Given the description of an element on the screen output the (x, y) to click on. 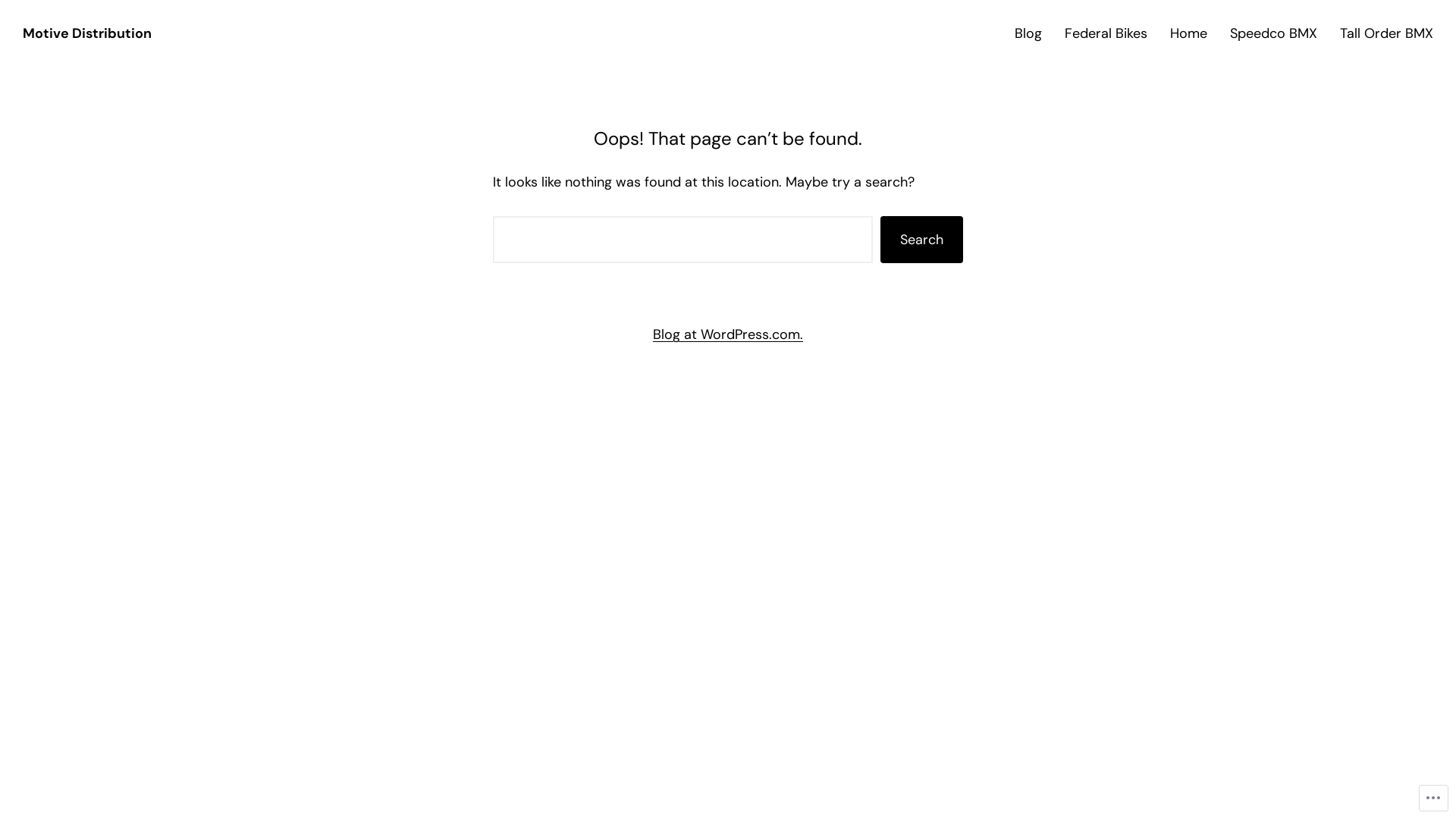
Tall Order BMX Element type: text (1386, 33)
Federal Bikes Element type: text (1105, 33)
Search Element type: text (921, 239)
Motive Distribution Element type: text (86, 33)
Home Element type: text (1188, 33)
Speedco BMX Element type: text (1273, 33)
Blog at WordPress.com. Element type: text (727, 334)
Blog Element type: text (1027, 33)
